Given the description of an element on the screen output the (x, y) to click on. 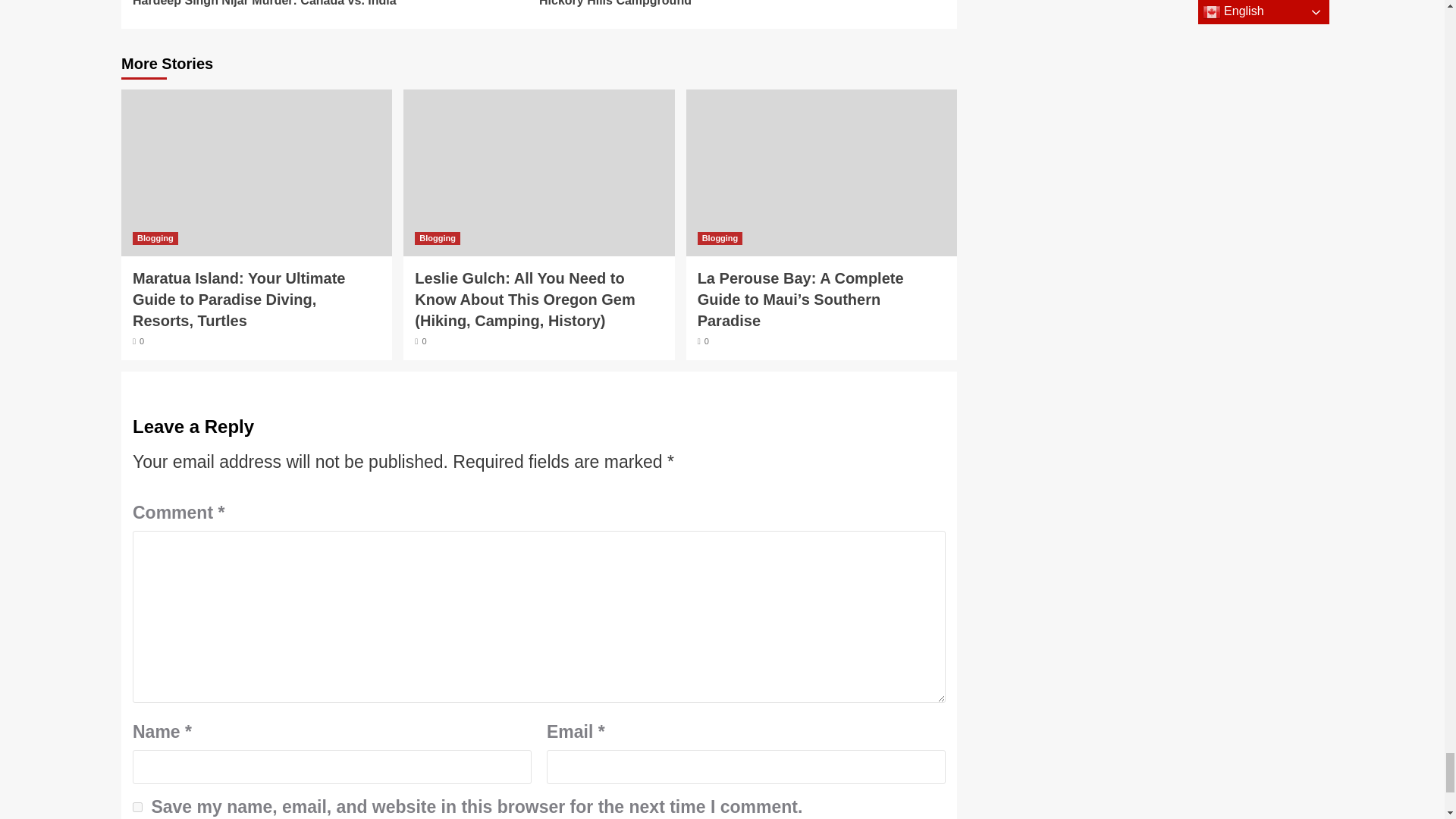
yes (137, 807)
Blogging (335, 4)
